Given the description of an element on the screen output the (x, y) to click on. 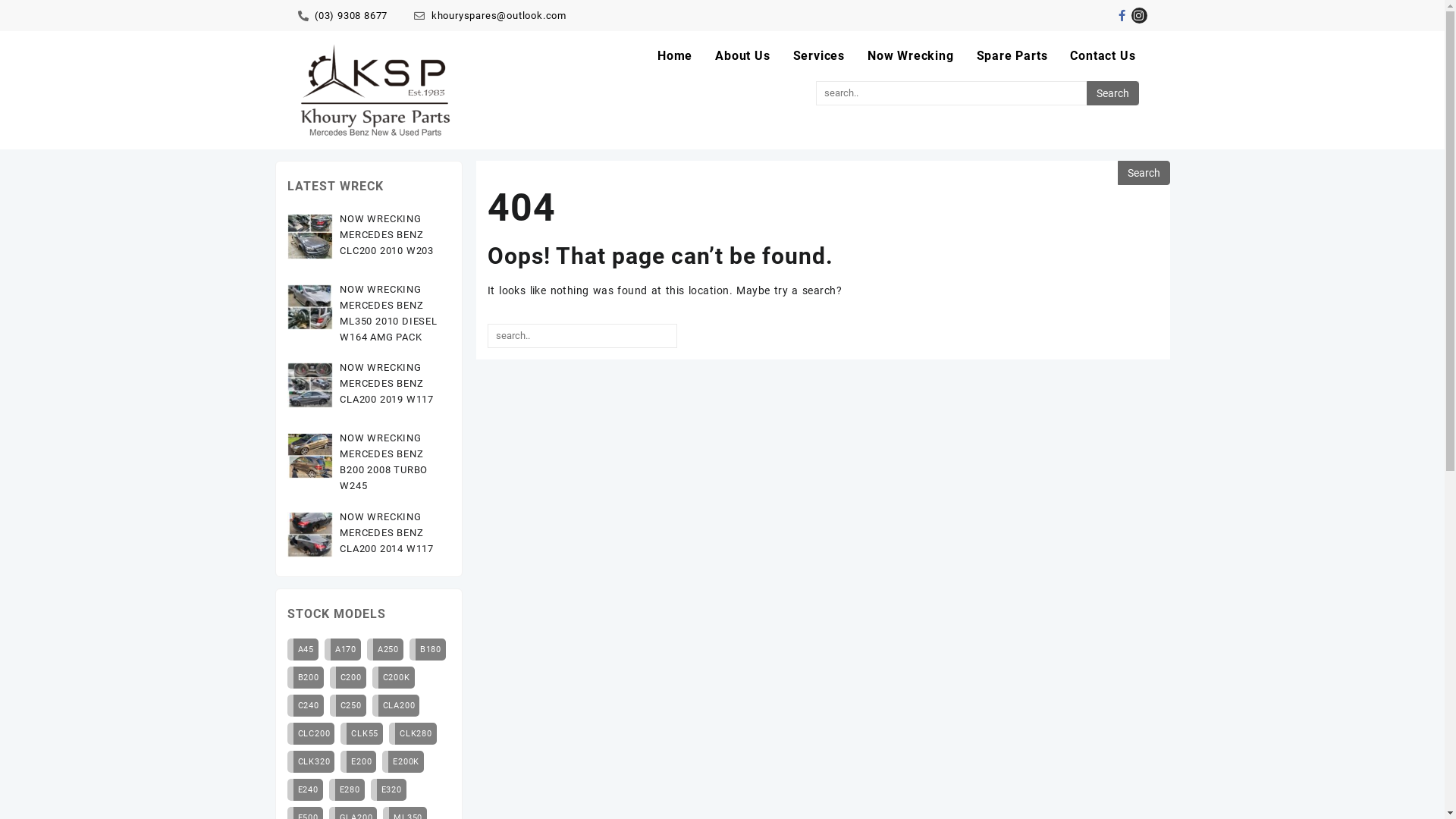
A45 Element type: text (301, 649)
NOW WRECKING MERCEDES BENZ CLA200 2014 W117 Element type: text (386, 532)
khouryspares@outlook.com Element type: text (490, 15)
E320 Element type: text (388, 789)
NOW WRECKING MERCEDES BENZ CLA200 2019 W117 Element type: text (386, 382)
C240 Element type: text (304, 705)
Home Element type: text (674, 55)
CLK280 Element type: text (412, 733)
CLK55 Element type: text (361, 733)
Spare Parts Element type: text (1012, 55)
Contact Us Element type: text (1102, 55)
NOW WRECKING MERCEDES BENZ CLC200 2010 W203 Element type: text (386, 234)
NOW WRECKING MERCEDES BENZ ML350 2010 DIESEL W164 AMG PACK Element type: text (388, 312)
A170 Element type: text (342, 649)
About Us Element type: text (742, 55)
E200 Element type: text (358, 761)
B200 Element type: text (304, 677)
C200K Element type: text (393, 677)
CLC200 Element type: text (310, 733)
E240 Element type: text (304, 789)
B180 Element type: text (427, 649)
CLK320 Element type: text (310, 761)
E200K Element type: text (402, 761)
Now Wrecking Element type: text (910, 55)
CLA200 Element type: text (396, 705)
A250 Element type: text (385, 649)
C200 Element type: text (347, 677)
Search Element type: text (1143, 172)
Services Element type: text (818, 55)
C250 Element type: text (347, 705)
(03) 9308 8677 Element type: text (342, 15)
E280 Element type: text (346, 789)
Search Element type: text (1112, 93)
NOW WRECKING MERCEDES BENZ B200 2008 TURBO W245 Element type: text (383, 461)
